Given the description of an element on the screen output the (x, y) to click on. 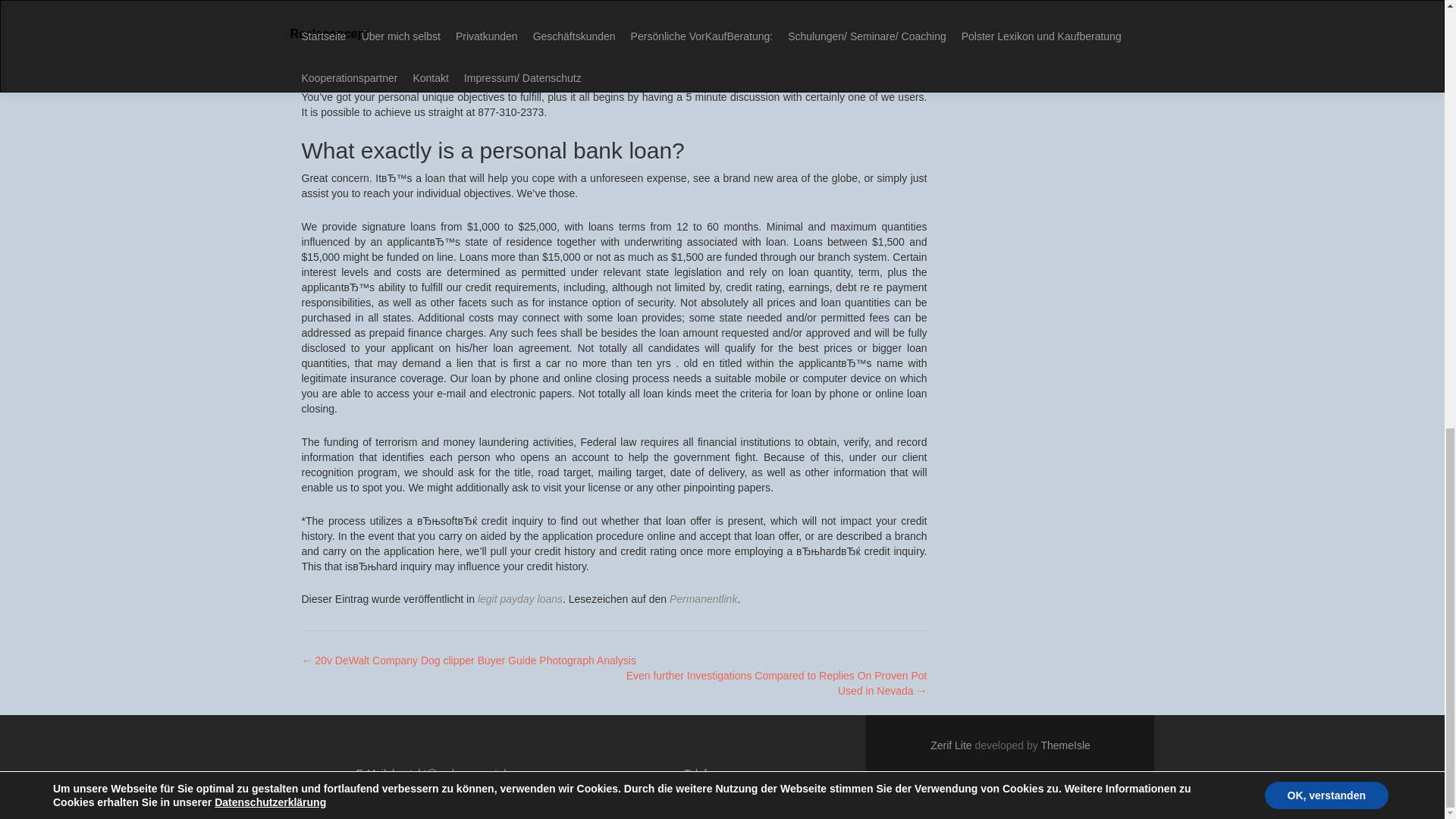
legit payday loans (519, 598)
Permanentlink (703, 598)
